Given the description of an element on the screen output the (x, y) to click on. 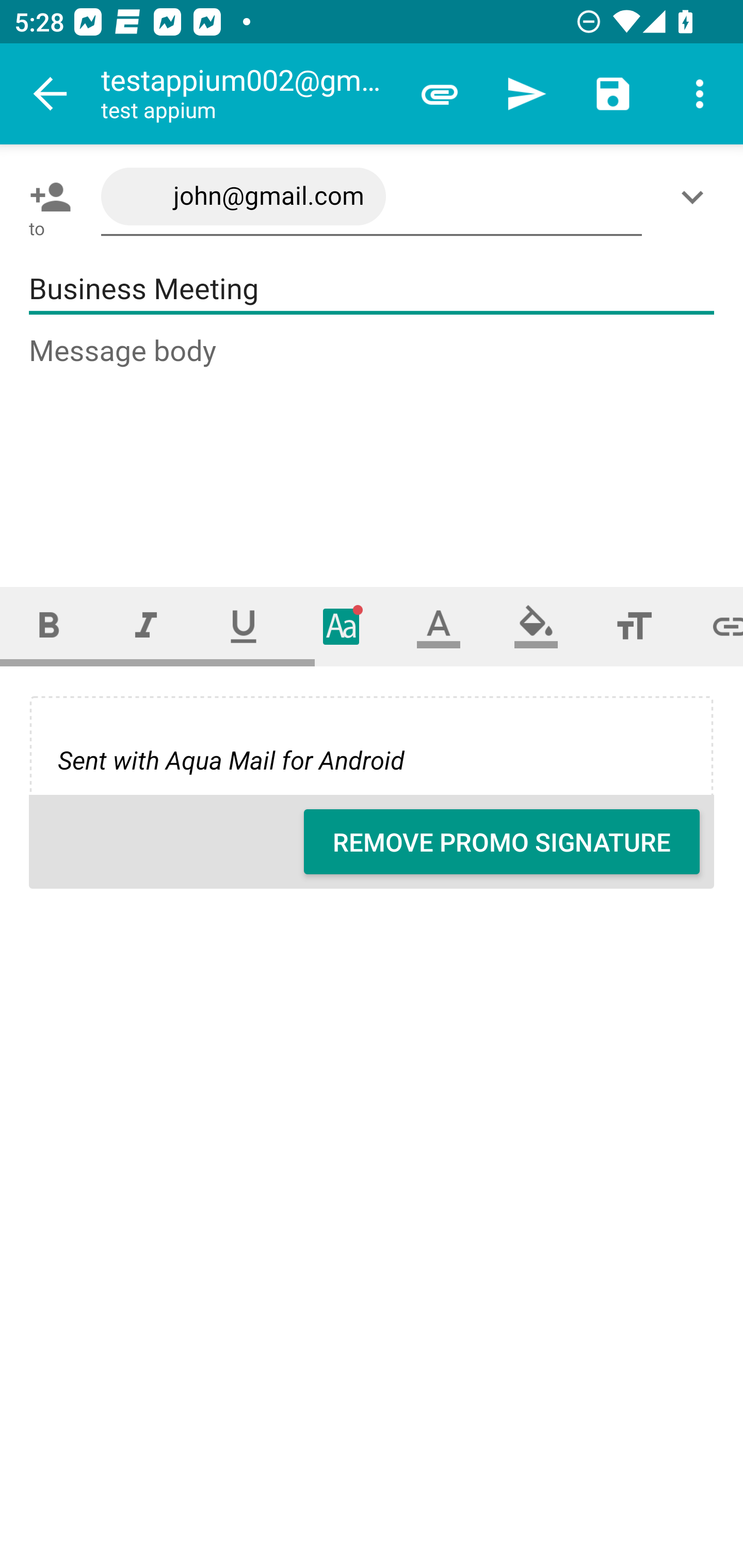
Navigate up (50, 93)
testappium002@gmail.com test appium (248, 93)
Attach (439, 93)
Send (525, 93)
Save (612, 93)
More options (699, 93)
john@gmail.com,  (371, 197)
Pick contact: To (46, 196)
Show/Add CC/BCC (696, 196)
Business Meeting (371, 288)
Message body (372, 442)
Bold (48, 626)
Italic (145, 626)
Underline (243, 626)
Typeface (font) (341, 626)
Text color (438, 626)
Fill color (536, 626)
Font size (633, 626)
Set link (712, 626)
REMOVE PROMO SIGNATURE (501, 841)
